Given the description of an element on the screen output the (x, y) to click on. 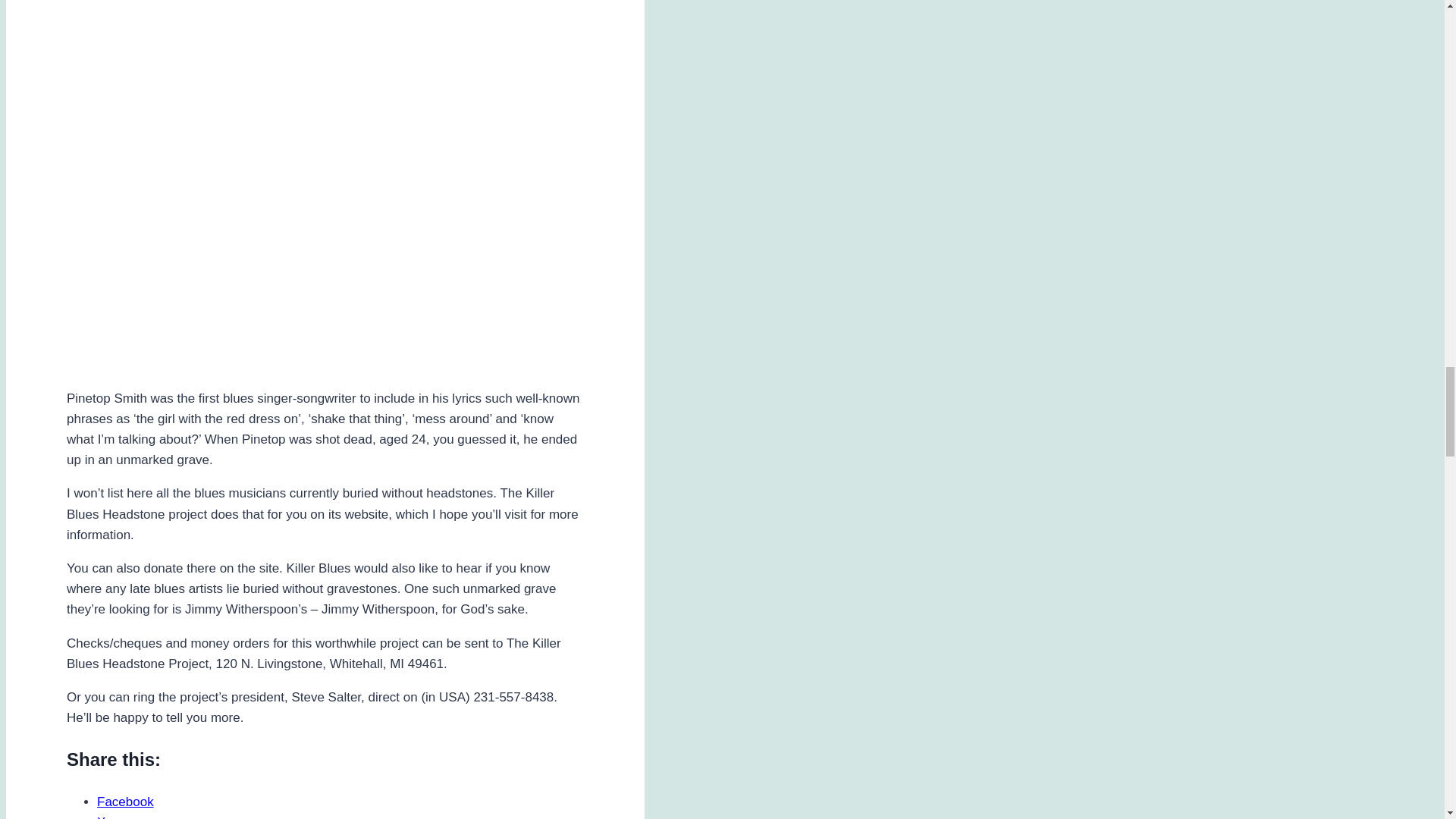
Click to share on Facebook (125, 801)
Facebook (125, 801)
